Given the description of an element on the screen output the (x, y) to click on. 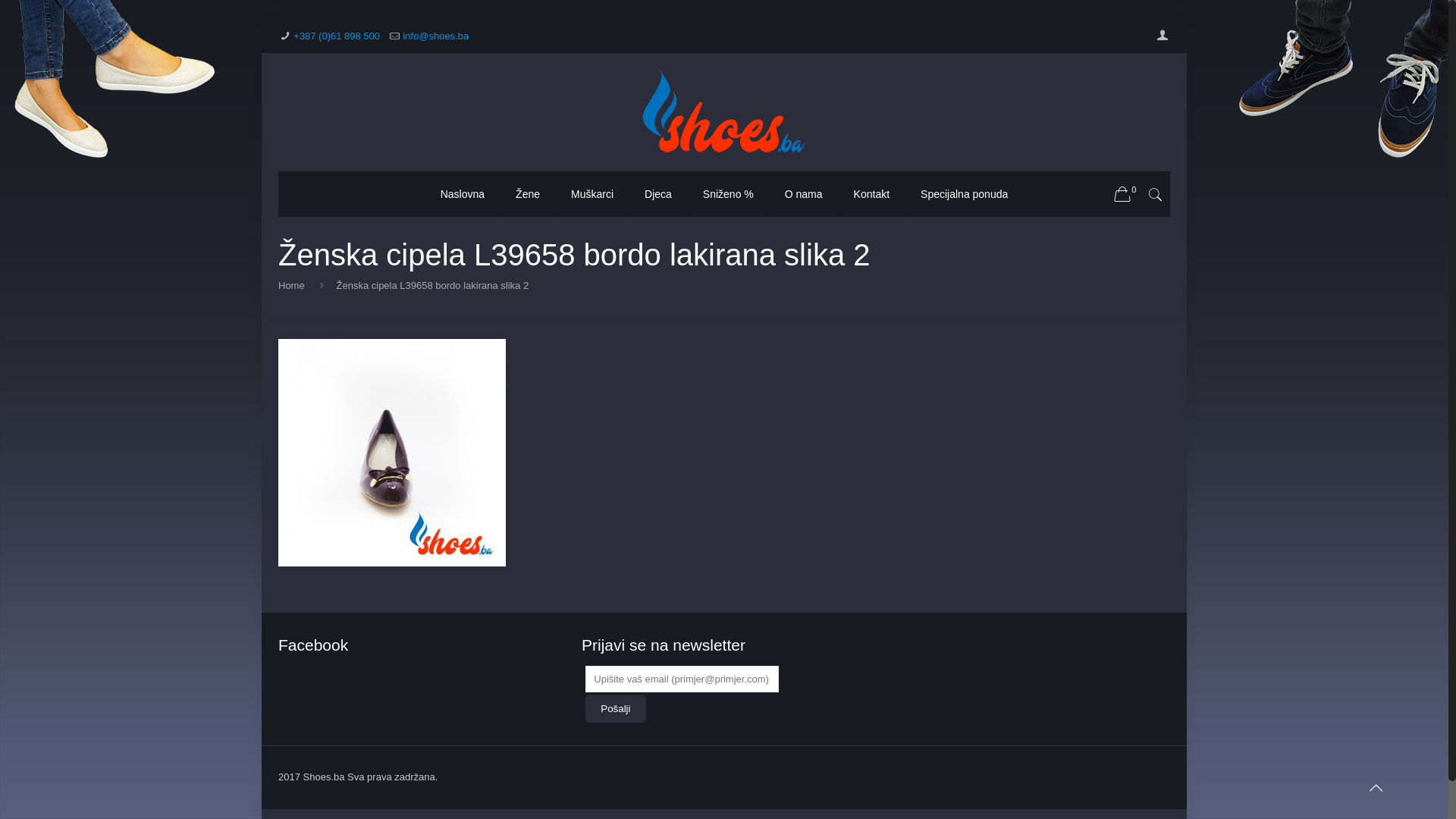
O nama Element type: text (803, 193)
Kontakt Element type: text (871, 193)
Djeca Element type: text (658, 193)
Home Element type: text (291, 285)
info@shoes.ba Element type: text (435, 35)
Shoes.ba Element type: hover (724, 111)
0 Element type: text (1128, 194)
Specijalna ponuda Element type: text (963, 193)
Naslovna Element type: text (462, 193)
+387 (0)61 898 500 Element type: text (336, 35)
